Given the description of an element on the screen output the (x, y) to click on. 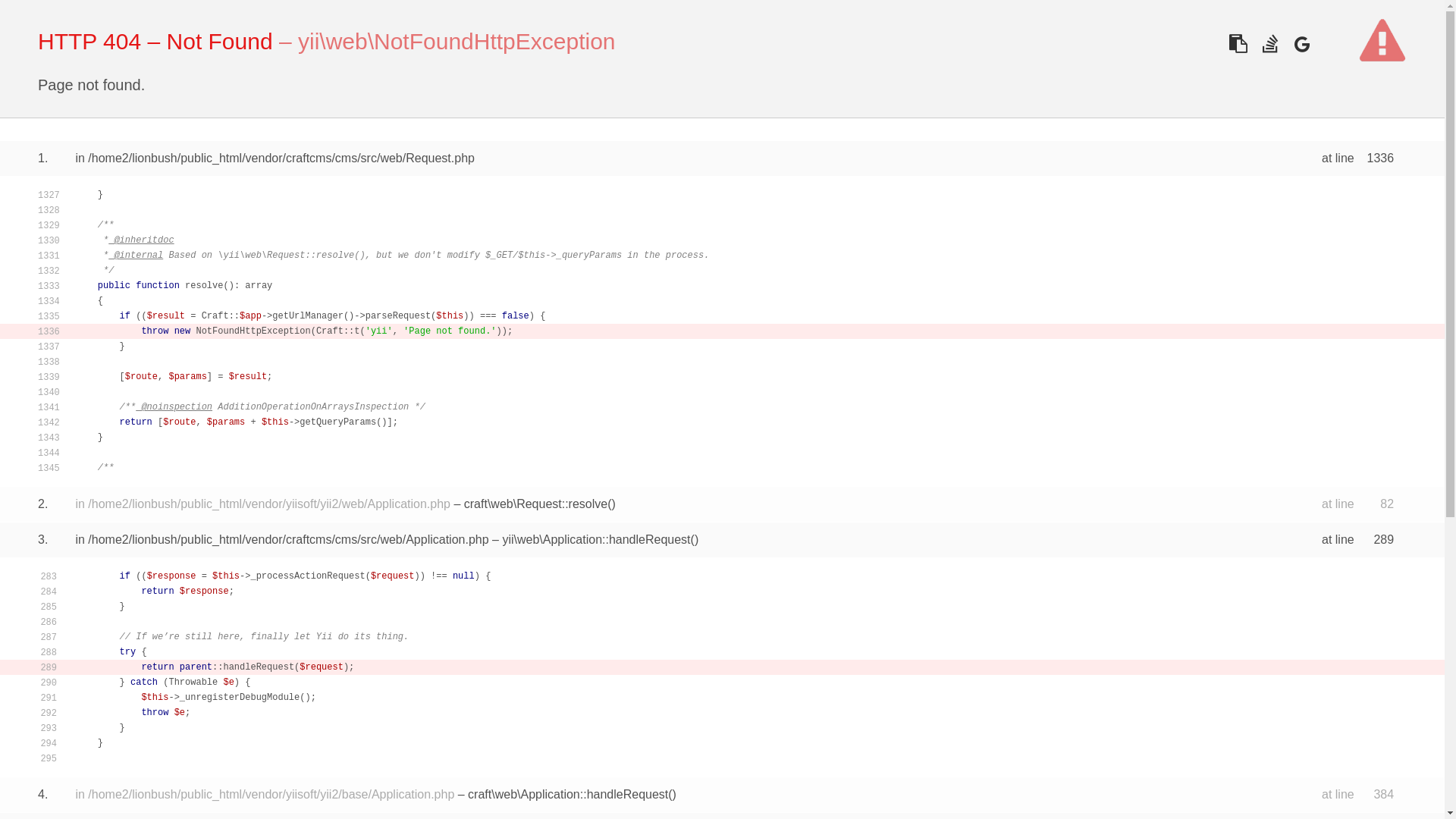
Search error on Stackoverflow Element type: hover (1269, 43)
yii\web\Application::handleRequest Element type: text (596, 539)
Copy the stacktrace for use in a bug report or pastebin Element type: hover (1237, 43)
Search error on Google Element type: hover (1301, 43)
yii\web\NotFoundHttpException Element type: text (456, 40)
